Given the description of an element on the screen output the (x, y) to click on. 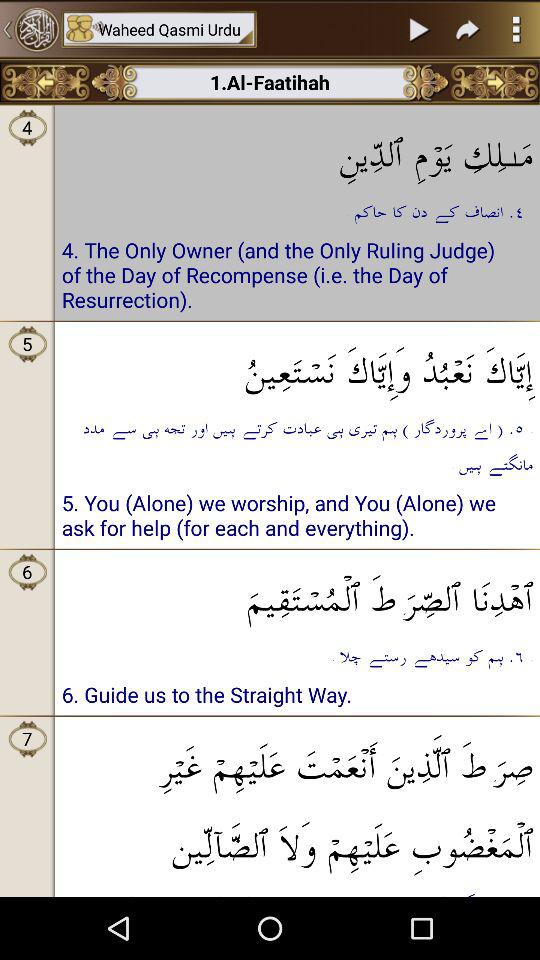
go to next (494, 82)
